Given the description of an element on the screen output the (x, y) to click on. 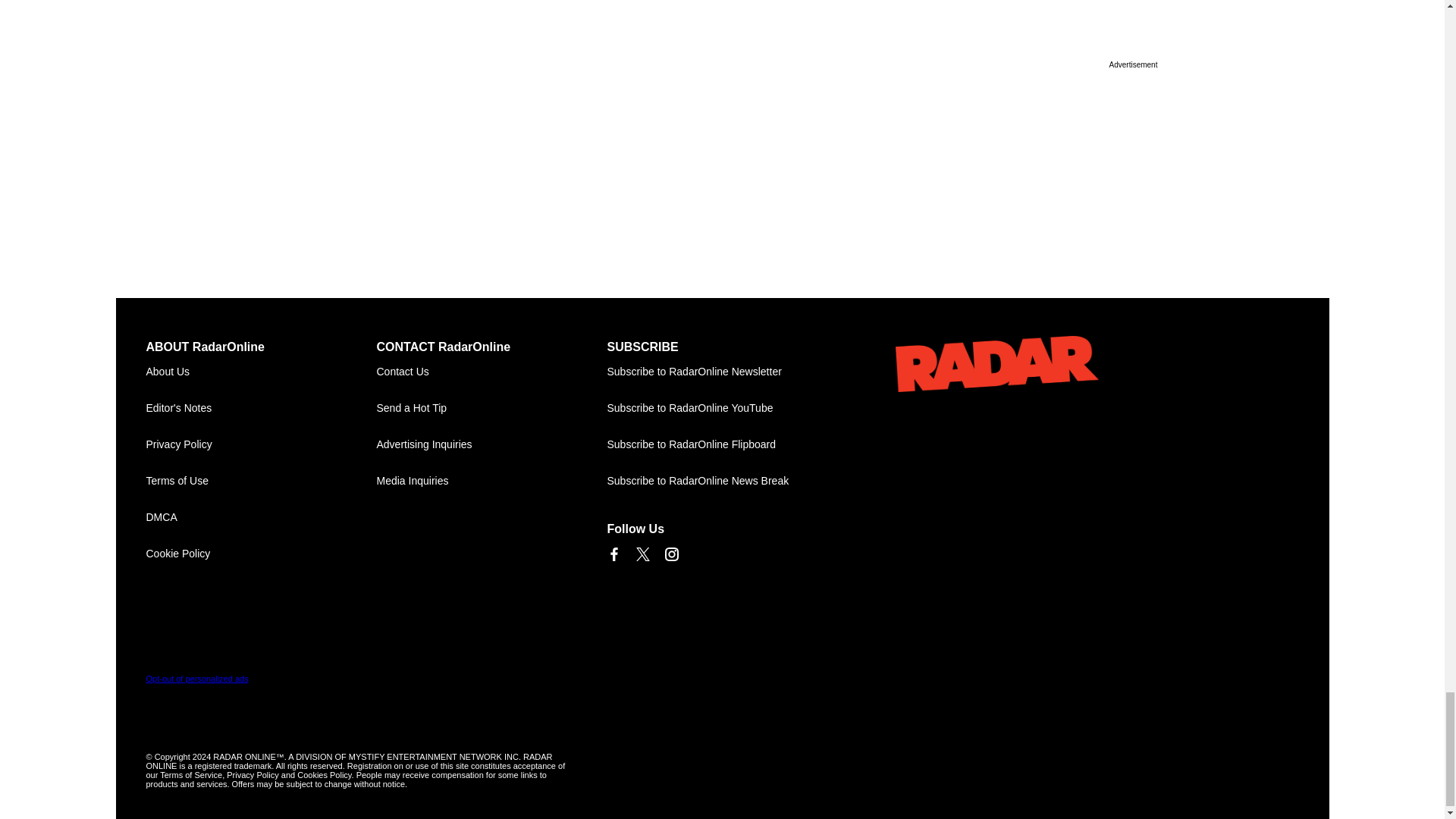
Cookie Policy (260, 554)
Terms of Use (260, 481)
DMCA (260, 517)
Link to X (641, 554)
Editor's Notes (260, 408)
About Us (260, 371)
Link to Instagram (670, 554)
Media Inquiries (491, 481)
Send a Hot Tip (491, 408)
Privacy Policy (260, 444)
Advertising Inquiries (491, 444)
Contact Us (491, 371)
Link to Facebook (613, 554)
Subscribe (722, 371)
